Given the description of an element on the screen output the (x, y) to click on. 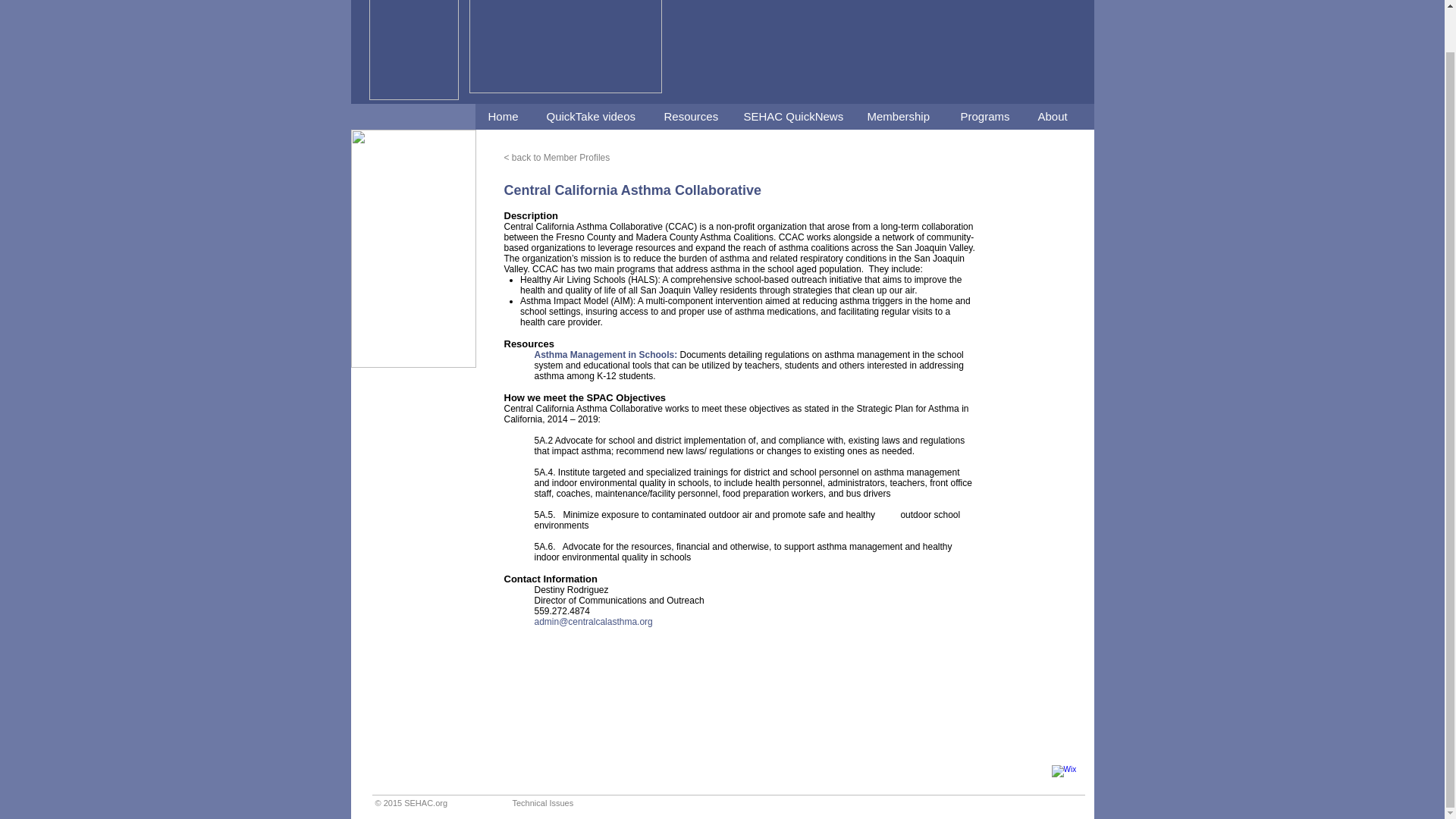
Home (503, 116)
Technical Issues (542, 802)
QuickTake videos (590, 116)
SEHAC QuickNews (791, 116)
Asthma Management in Schools: (606, 354)
Resources (690, 116)
Membership (900, 116)
